Given the description of an element on the screen output the (x, y) to click on. 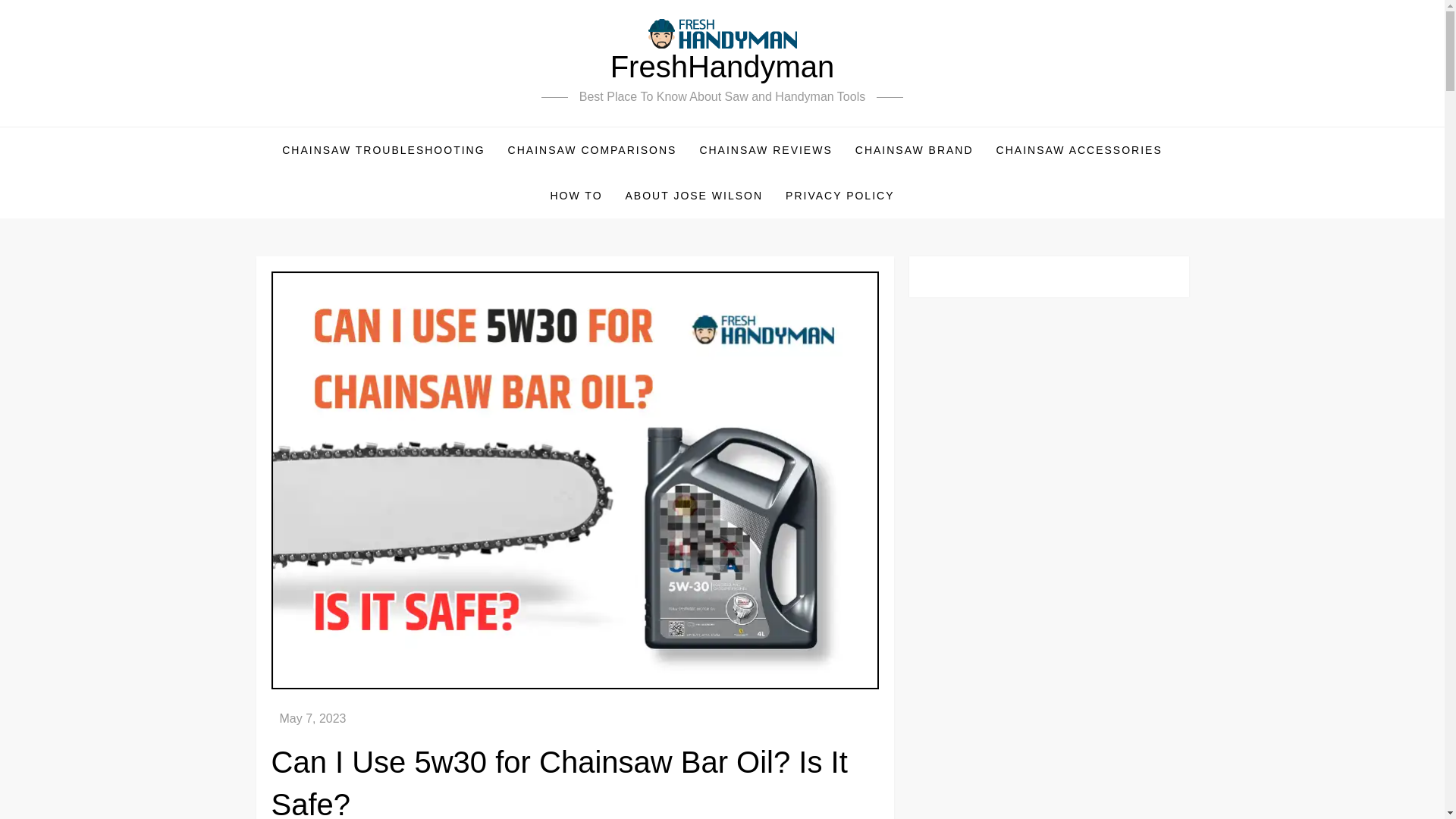
May 7, 2023 (312, 717)
ABOUT JOSE WILSON (694, 195)
HOW TO (575, 195)
CHAINSAW ACCESSORIES (1079, 149)
CHAINSAW TROUBLESHOOTING (383, 149)
CHAINSAW REVIEWS (765, 149)
CHAINSAW BRAND (914, 149)
CHAINSAW COMPARISONS (592, 149)
PRIVACY POLICY (839, 195)
FreshHandyman (722, 66)
